Given the description of an element on the screen output the (x, y) to click on. 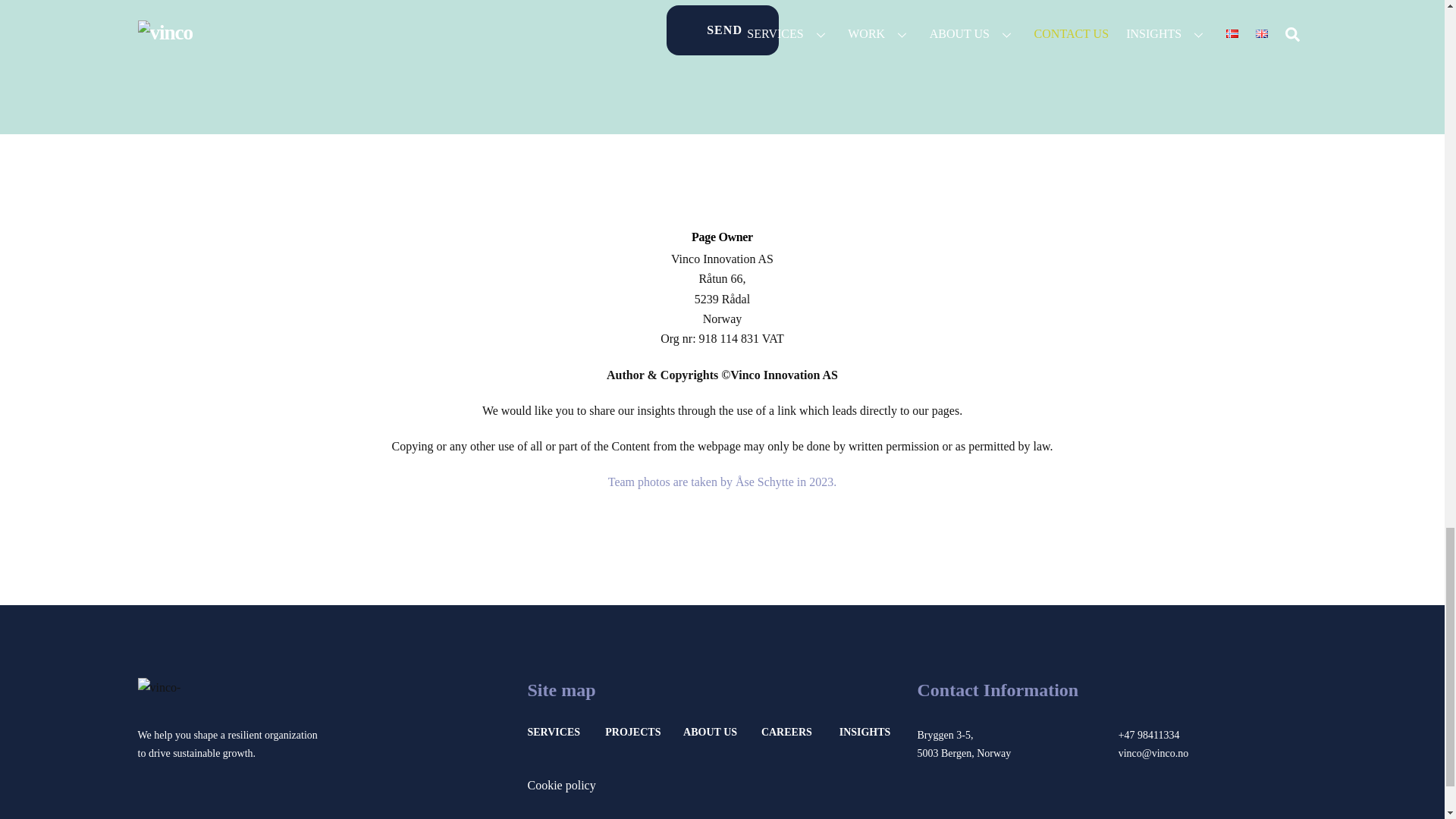
SEND (722, 29)
vinco-innovation-consulting 1 (185, 689)
